Given the description of an element on the screen output the (x, y) to click on. 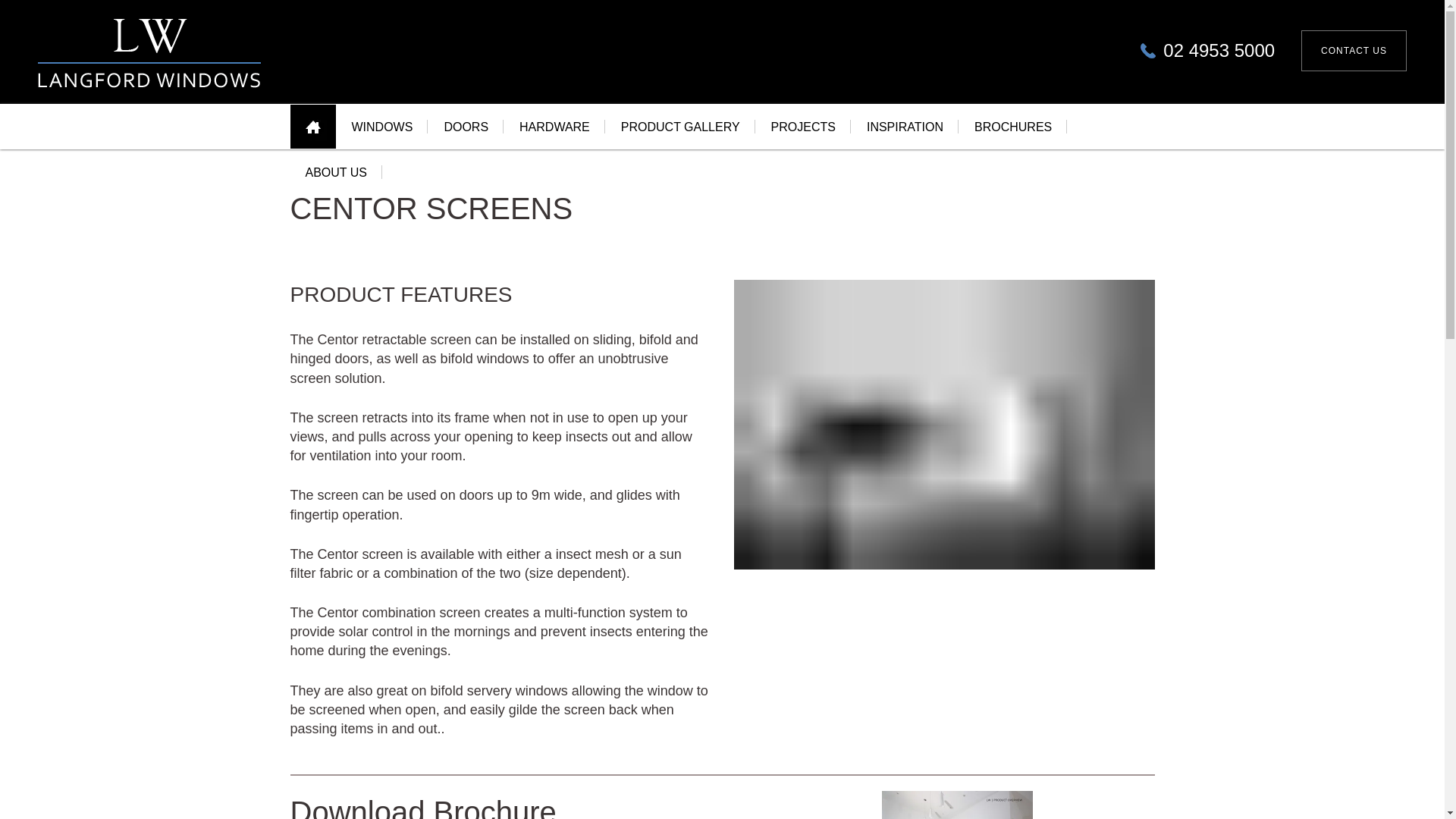
WINDOWS (382, 135)
PRODUCT GALLERY (680, 126)
HOME (311, 136)
02 4953 5000 (1207, 63)
CONTACT US (1353, 62)
HARDWARE (554, 126)
DOORS (465, 127)
